Given the description of an element on the screen output the (x, y) to click on. 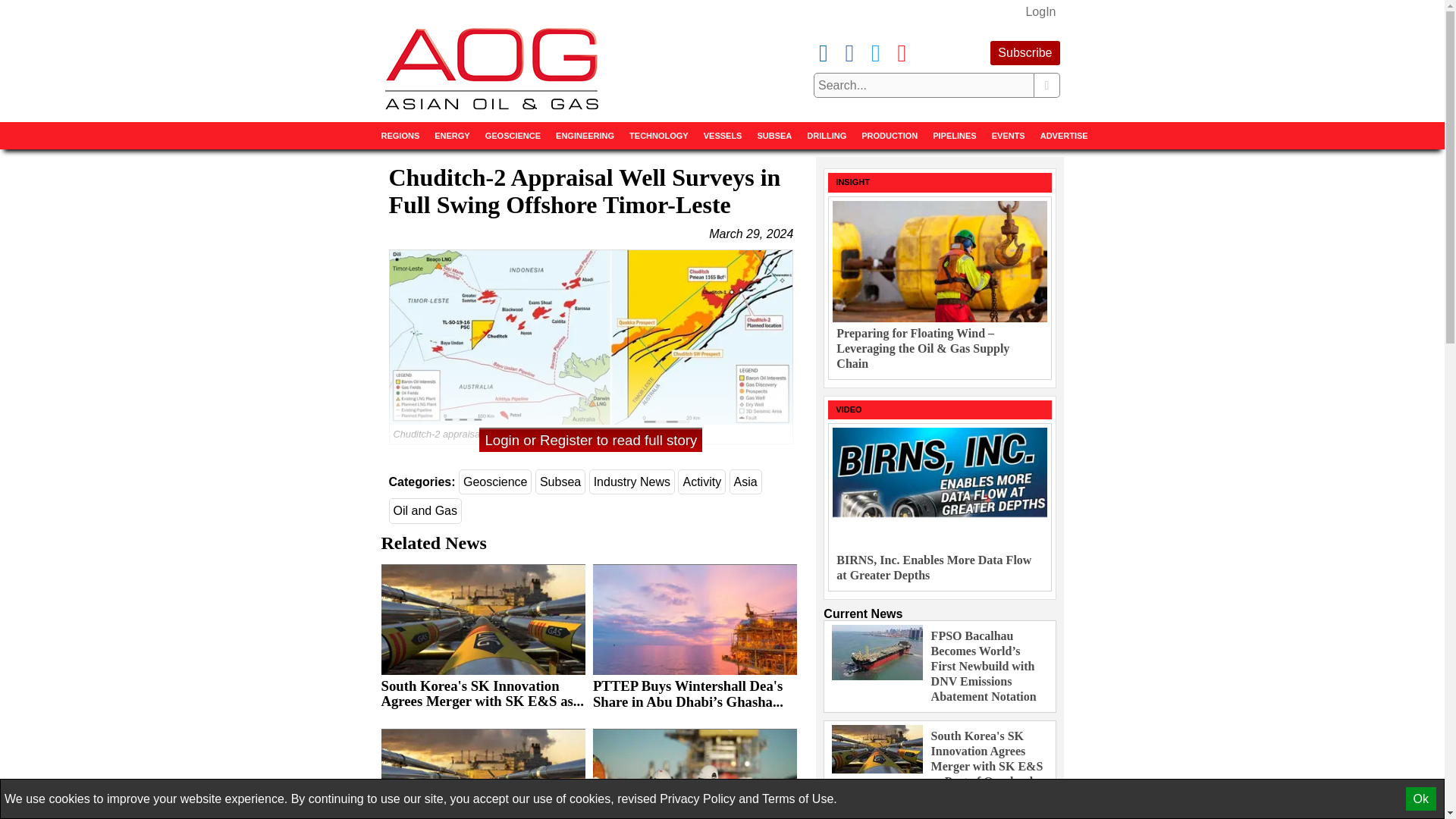
Subscribe (1024, 52)
GEOSCIENCE (512, 135)
ENERGY (451, 135)
TECHNOLOGY (658, 135)
ENGINEERING (584, 135)
REGIONS (399, 135)
LogIn (1039, 11)
